Given the description of an element on the screen output the (x, y) to click on. 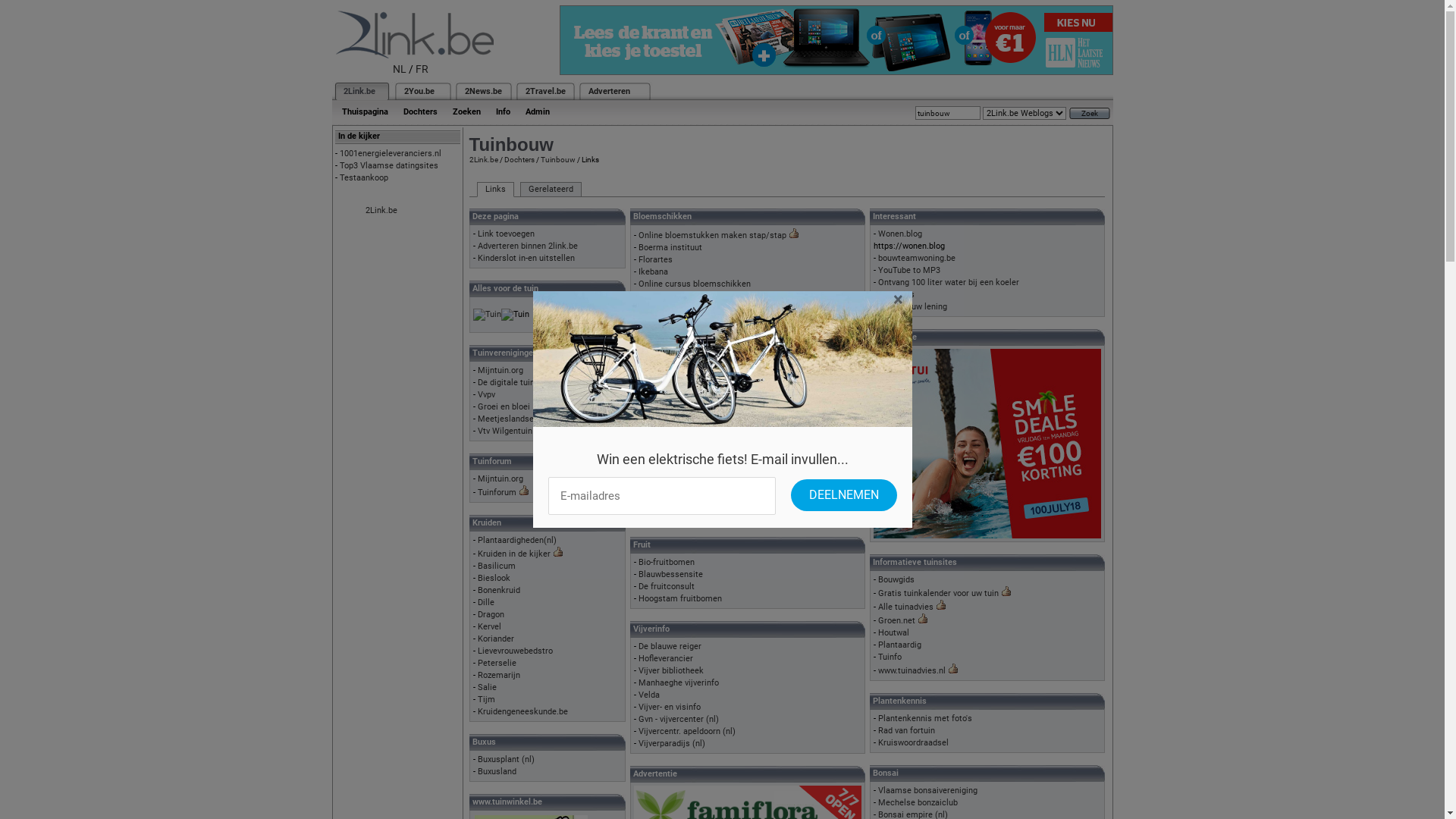
Lievevrouwebedstro Element type: text (514, 650)
Kruiswoordraadsel Element type: text (913, 742)
NL Element type: text (399, 68)
Kruidengeneeskunde.be Element type: text (522, 711)
De velt nationaal Element type: text (669, 441)
De Kruisberghoeve Element type: text (673, 514)
FR Element type: text (421, 68)
Hofleverancier Element type: text (665, 658)
Dochters Element type: text (420, 111)
Vijverparadijs (nl) Element type: text (671, 743)
Teeltschema's 92 groenten Element type: text (689, 490)
Meetjeslandse tuinclub Element type: text (521, 418)
1001energieleveranciers.nl Element type: text (390, 153)
Info Element type: text (502, 111)
YouTube to MP3 Element type: text (909, 270)
Mechelse bonzaiclub Element type: text (917, 802)
Peterselie Element type: text (496, 663)
Wonen.blog Element type: text (900, 233)
De fruitconsult Element type: text (666, 586)
Zoek Element type: text (1089, 113)
Groen.net Element type: text (896, 620)
2Link.be Element type: text (358, 91)
Koriander Element type: text (495, 638)
Online cursus bloemschikken Element type: text (694, 283)
Vtv Wilgentuin Element type: text (504, 431)
Buxusland Element type: text (496, 771)
Plantaardig Element type: text (899, 644)
www.tuinadvies.nl Element type: text (911, 670)
Manhaeghe vijverinfo Element type: text (678, 682)
Open tuinen landelijke gilden Element type: text (692, 368)
Rad van fortuin Element type: text (906, 730)
Kruiden in de kijker Element type: text (513, 553)
Dragon Element type: text (490, 614)
Bieslook Element type: text (493, 578)
2Link.be Element type: text (482, 159)
Thuispagina Element type: text (364, 111)
Admin Element type: text (536, 111)
Kervel Element type: text (489, 626)
Mijntuin.org Element type: text (500, 478)
2You.be Element type: text (418, 91)
Teeltopvolging met foto's Element type: text (685, 429)
Bio-fruitbomen Element type: text (666, 562)
Top3 Vlaamse datingsites Element type: text (388, 165)
Bonenkruid Element type: text (498, 590)
Plantaardigheden(nl) Element type: text (516, 540)
Werk v.d. akker Wieze Element type: text (679, 478)
Onze tuin 'het Groene Gevoel' Element type: text (693, 355)
Gvn - vijvercenter (nl) Element type: text (678, 719)
Salie Element type: text (486, 687)
Alle tuinadvies Element type: text (905, 606)
Florartes Element type: text (655, 259)
Vijvercentr. apeldoorn (nl) Element type: text (686, 731)
Kinderslot in-en uitstellen Element type: text (525, 258)
Vijver bibliotheek Element type: text (670, 670)
Bouwgids Element type: text (896, 294)
Vijver- en visinfo Element type: text (669, 707)
Rozemarijn Element type: text (498, 675)
De blauwe reiger Element type: text (669, 646)
Tijm Element type: text (486, 699)
Adverteren Element type: text (609, 91)
Houtwal Element type: text (893, 632)
Plantenkennis met foto's Element type: text (925, 718)
Blauwbessensite Element type: text (670, 574)
Zoeken Element type: text (465, 111)
Boerma instituut Element type: text (670, 247)
Tuinbouw Element type: text (556, 159)
Ontvang 100 liter water bij een koeler Element type: text (948, 282)
Velda Element type: text (648, 694)
2Link.be Element type: text (381, 210)
Gerelateerd Element type: text (550, 189)
After all - Nicolle Boerma Element type: text (686, 308)
Bouwgids Element type: text (896, 579)
Veel meer... Element type: text (660, 502)
Bloemschikbenodigdheden Element type: text (689, 296)
Adverteren binnen 2link.be Element type: text (527, 246)
bouwteamwoning.be Element type: text (916, 258)
Groei en bloei Element type: text (503, 406)
Links Element type: text (494, 189)
Vvpv Element type: text (486, 394)
Velt gemert (nl) Element type: text (668, 453)
Mijntuin.org Element type: text (500, 370)
Ikebana Element type: text (653, 271)
Tuinfo Element type: text (889, 657)
Gratis tuinkalender voor uw tuin Element type: text (938, 593)
Hoogstam fruitbomen Element type: text (679, 598)
2News.be Element type: text (482, 91)
Link toevoegen Element type: text (505, 233)
Dille Element type: text (485, 602)
Bereken uw lening Element type: text (912, 306)
2Travel.be Element type: text (544, 91)
Tuinforum Element type: text (496, 492)
Basilicum Element type: text (496, 566)
Vlaamse bonsaivereniging Element type: text (927, 790)
Testaankoop Element type: text (363, 177)
De digitale tuinclub Element type: text (513, 382)
Dochters Element type: text (518, 159)
Volkstuinen Element type: text (660, 465)
Online bloemstukken maken stap/stap Element type: text (712, 235)
Open tuinen Element type: text (661, 380)
Buxusplant (nl) Element type: text (505, 759)
